Given the description of an element on the screen output the (x, y) to click on. 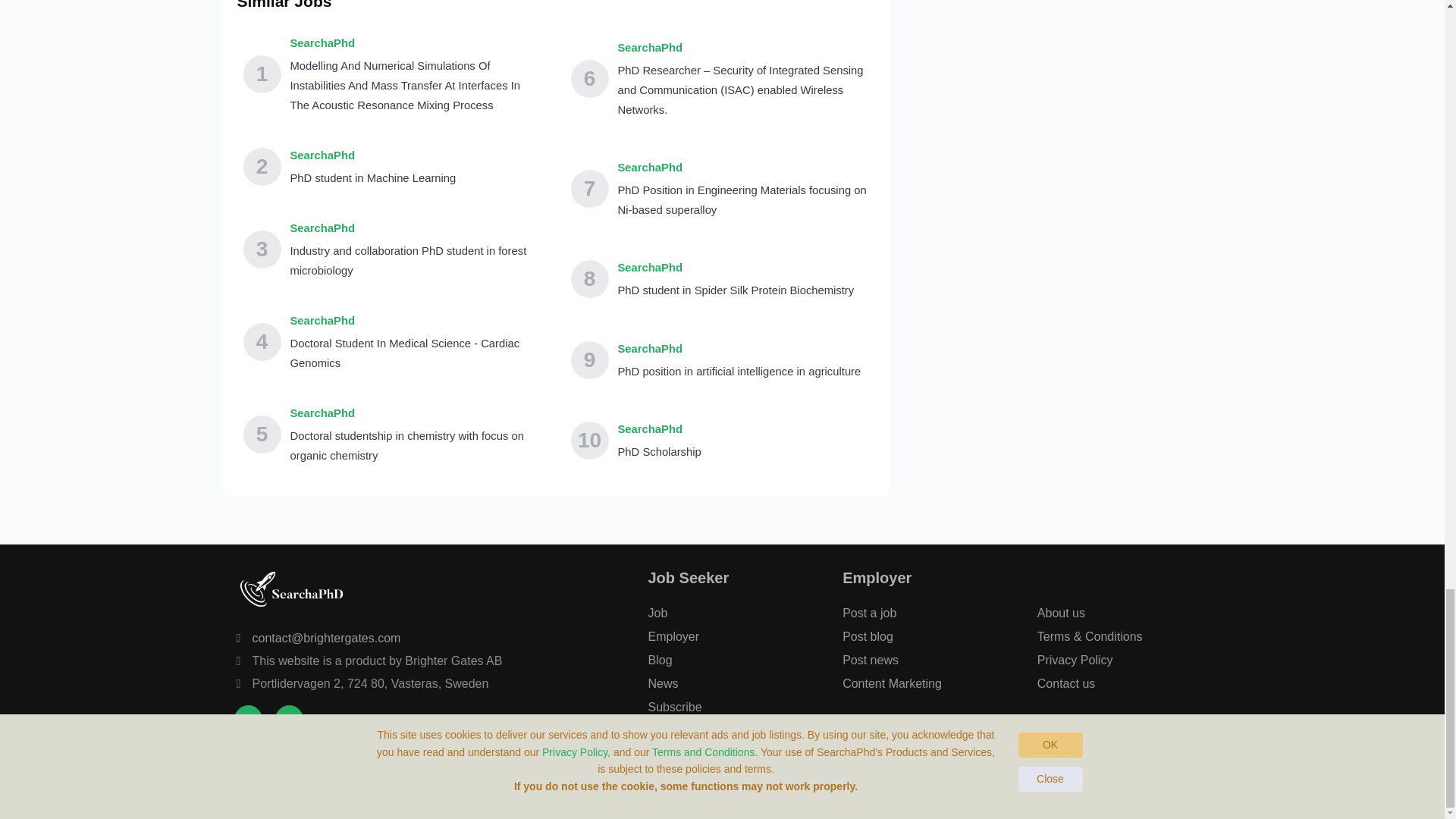
SearchaPhd (414, 413)
SearchaPhd (658, 428)
SearchaPhd (738, 348)
PhD student in Spider Silk Protein Biochemistry (735, 290)
SearchaPhd (742, 167)
SearchaPhd (414, 43)
PhD position in artificial intelligence in agriculture (738, 371)
SearchaPhd (372, 155)
